Given the description of an element on the screen output the (x, y) to click on. 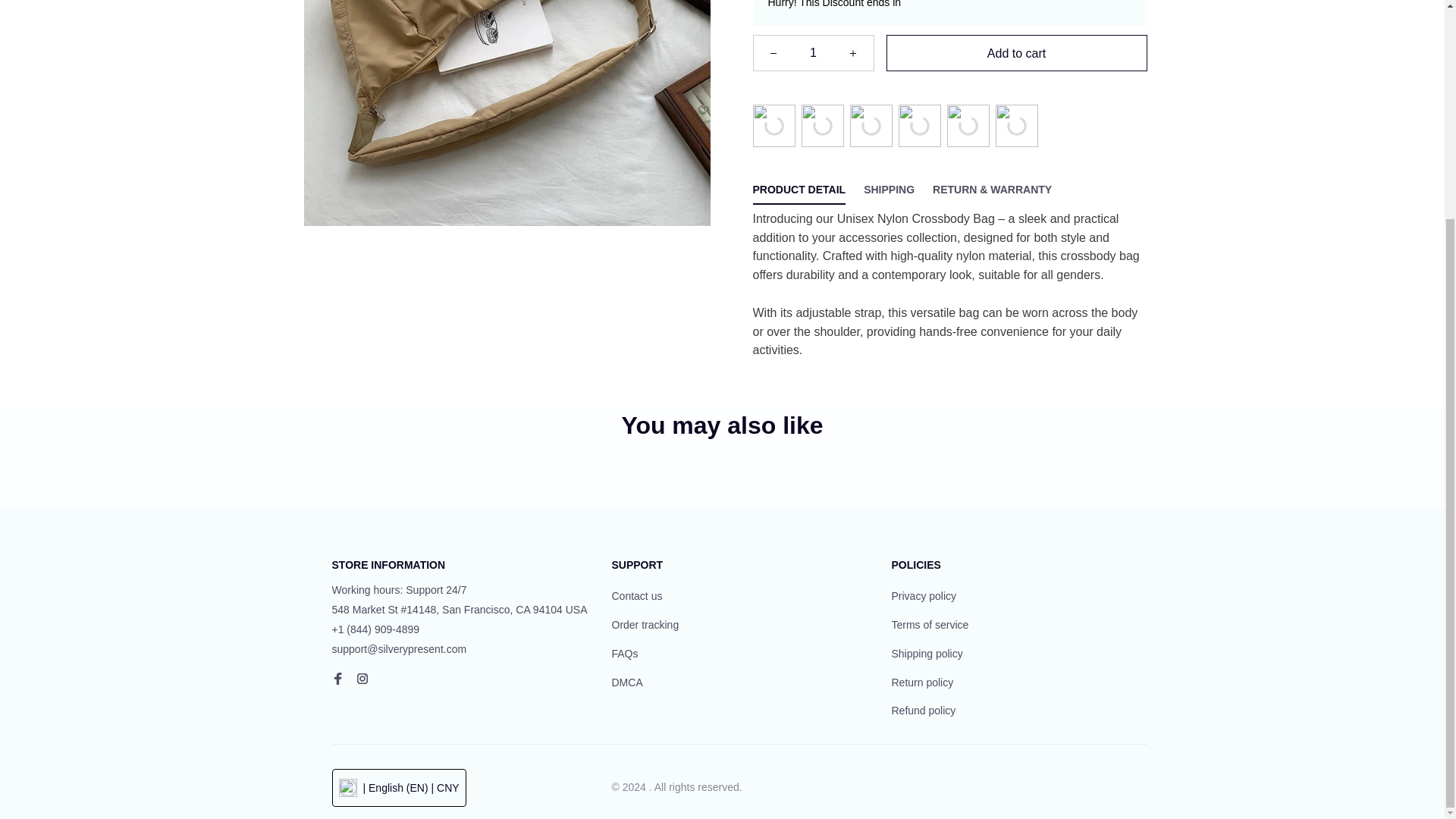
DMCA (626, 682)
1 (812, 53)
PRODUCT DETAIL (798, 189)
Terms of service (930, 625)
Privacy policy (923, 596)
Refund policy (923, 710)
Return policy (922, 682)
FAQs (624, 654)
Shipping policy (926, 654)
Contact us (636, 596)
